Given the description of an element on the screen output the (x, y) to click on. 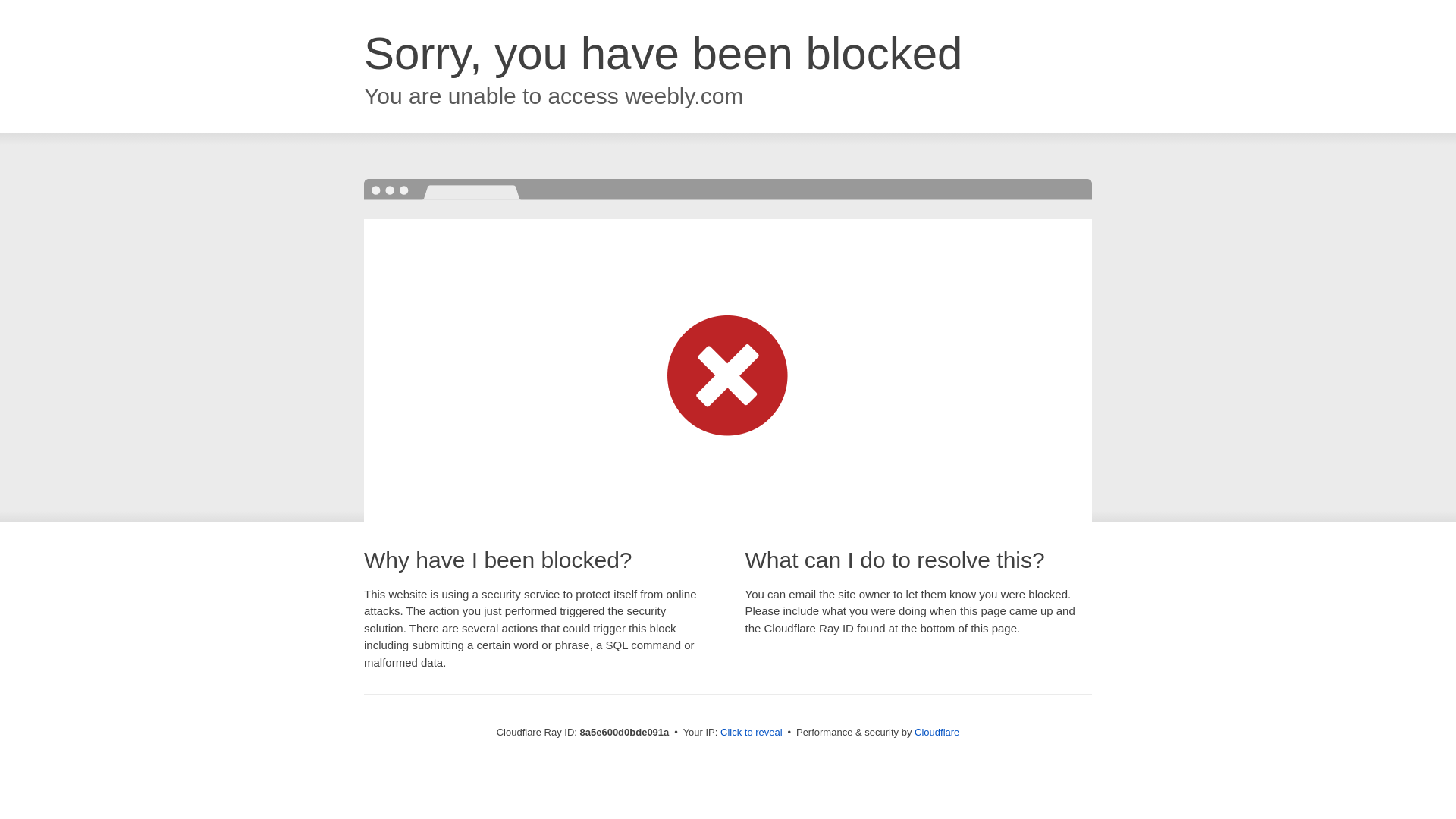
Click to reveal (751, 732)
Cloudflare (936, 731)
